Given the description of an element on the screen output the (x, y) to click on. 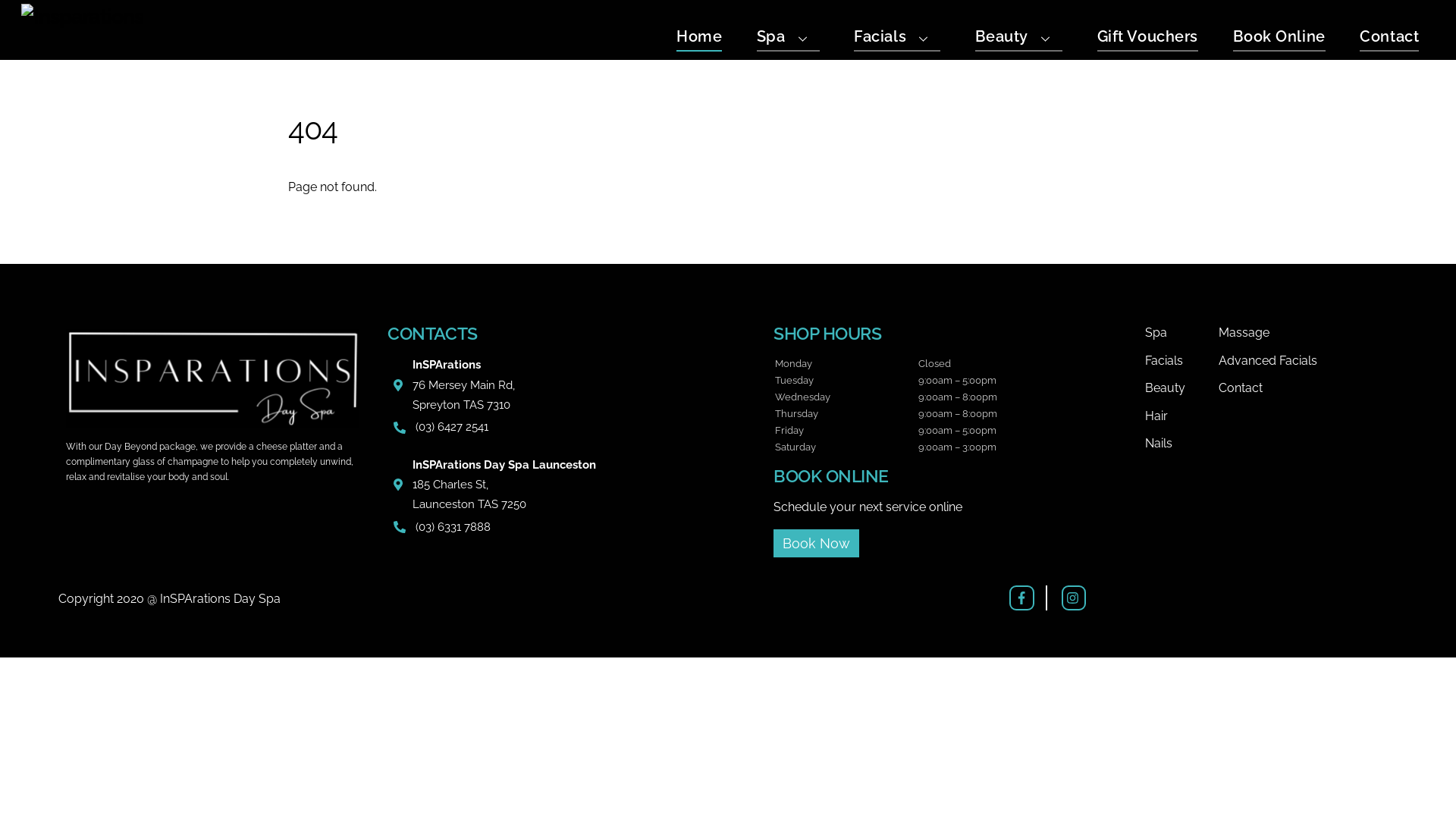
Spa Element type: text (787, 38)
Insparations logo cr Element type: hover (211, 377)
Insparations logo cr Element type: hover (82, 15)
Contact Element type: text (1307, 388)
Beauty Element type: text (1018, 38)
Facials Element type: text (1181, 360)
Nails Element type: text (1181, 443)
Massage Element type: text (1307, 332)
Facials Element type: text (896, 38)
Insparations Element type: hover (82, 15)
Home Element type: text (698, 38)
Beauty Element type: text (1181, 388)
Book Now Element type: text (816, 543)
Spa Element type: text (1181, 332)
Contact Element type: text (1388, 38)
Hair Element type: text (1181, 416)
Advanced Facials Element type: text (1307, 360)
Gift Vouchers Element type: text (1147, 38)
Book Online Element type: text (1279, 38)
